Given the description of an element on the screen output the (x, y) to click on. 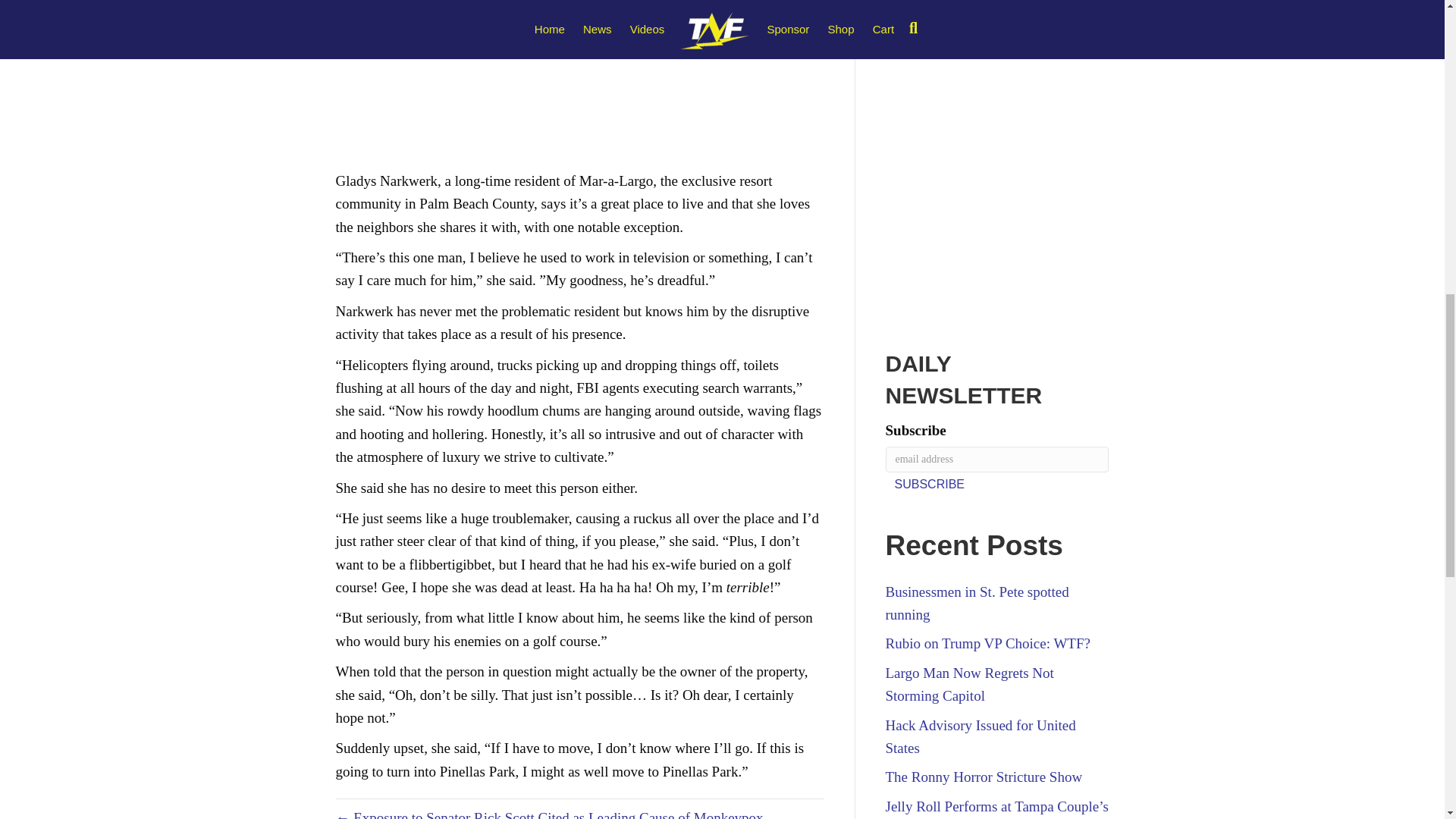
Hack Advisory Issued for United States (980, 736)
Businessmen in St. Pete spotted running (976, 602)
The Ronny Horror Stricture Show (984, 776)
Subscribe (929, 484)
Subscribe (929, 484)
Rubio on Trump VP Choice: WTF? (987, 643)
Largo Man Now Regrets Not Storming Capitol (969, 684)
